Given the description of an element on the screen output the (x, y) to click on. 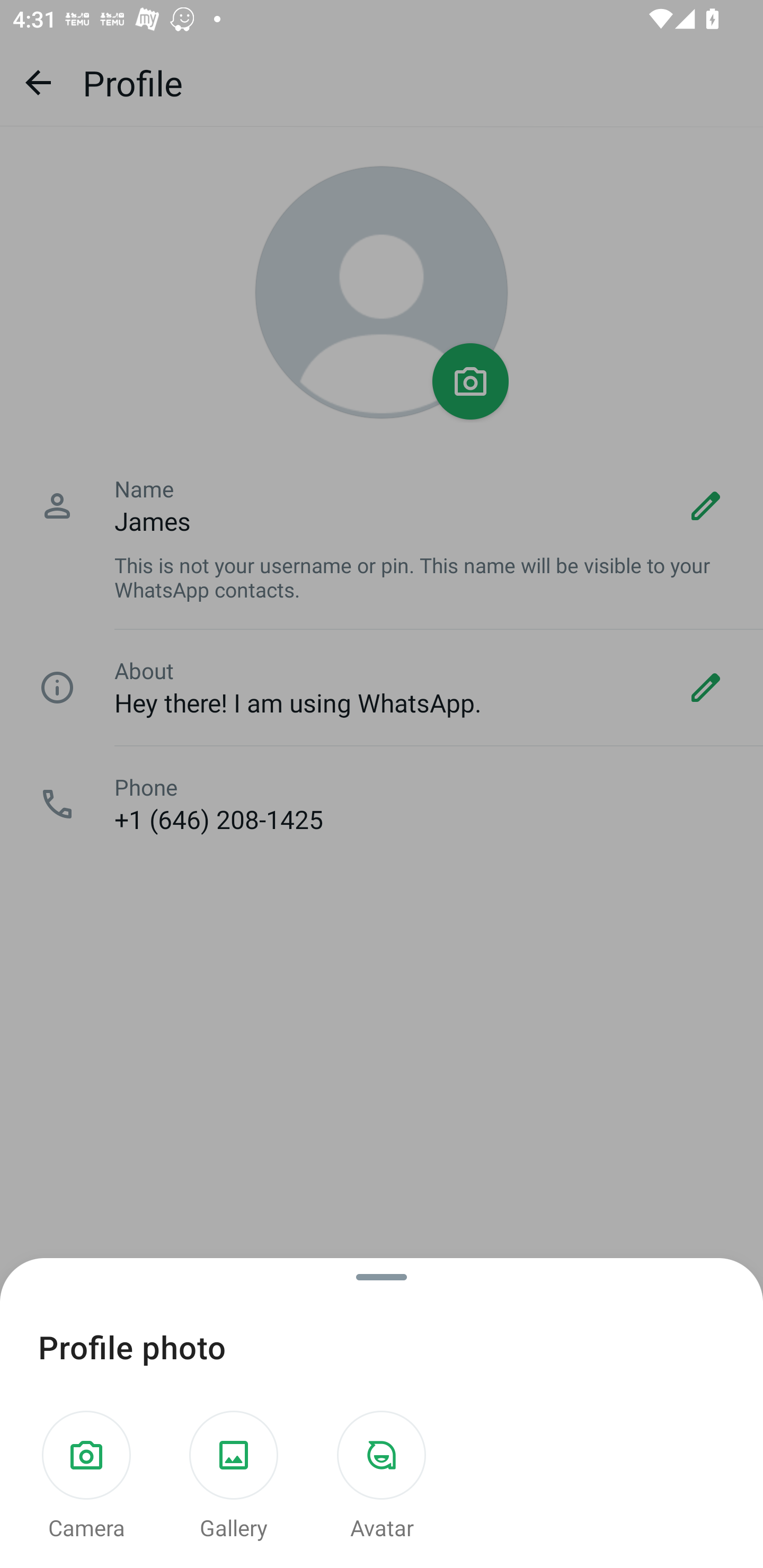
Camera (86, 1476)
Gallery (233, 1476)
Avatar (381, 1476)
